Given the description of an element on the screen output the (x, y) to click on. 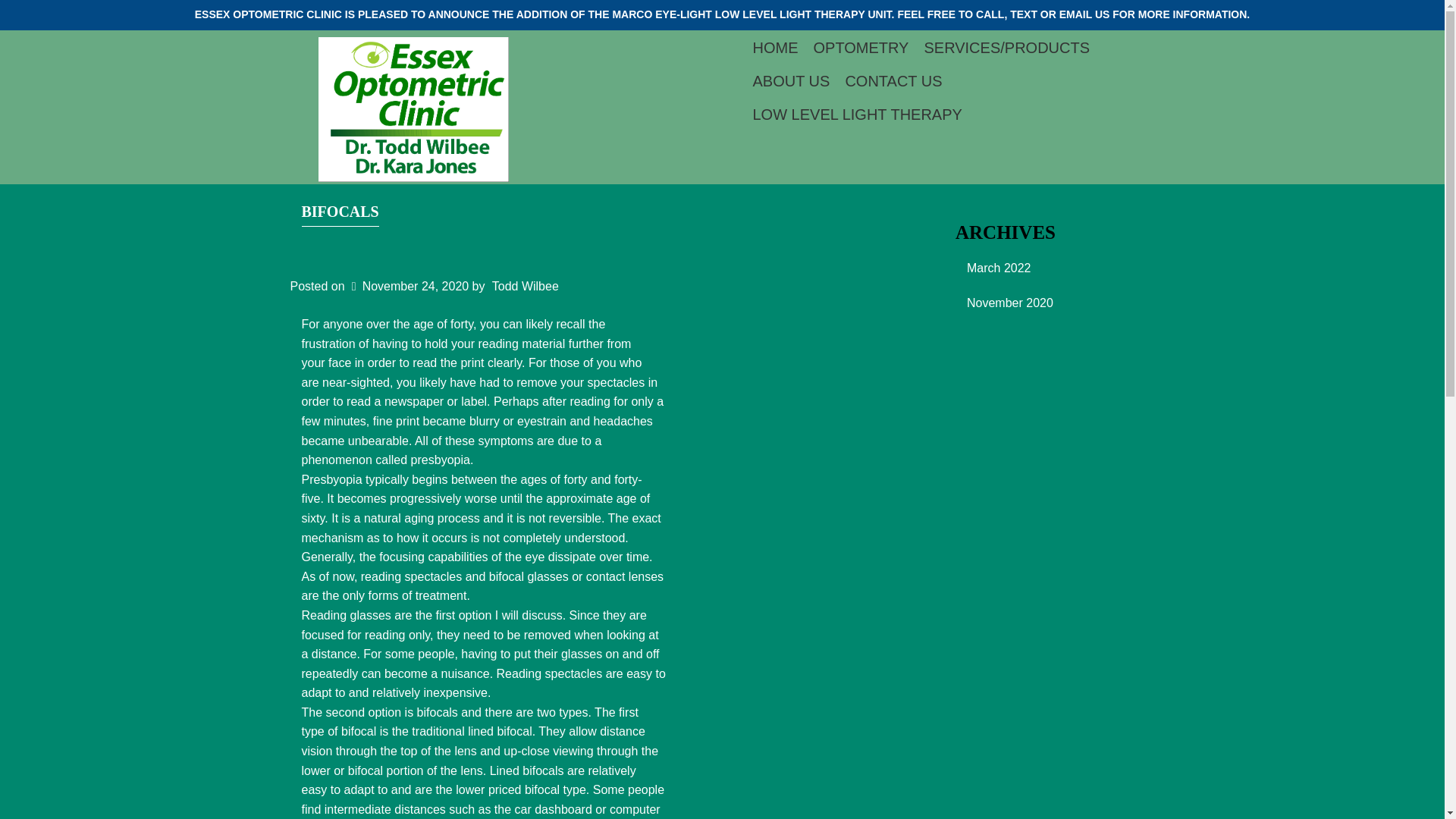
March 2022 (1054, 267)
LOW LEVEL LIGHT THERAPY (856, 114)
Todd Wilbee (525, 286)
ABOUT US (790, 80)
OPTOMETRY (860, 47)
November 2020 (1054, 302)
BIFOCALS (339, 214)
HOME (774, 47)
November 24, 2020 (407, 286)
CONTACT US (893, 80)
